Given the description of an element on the screen output the (x, y) to click on. 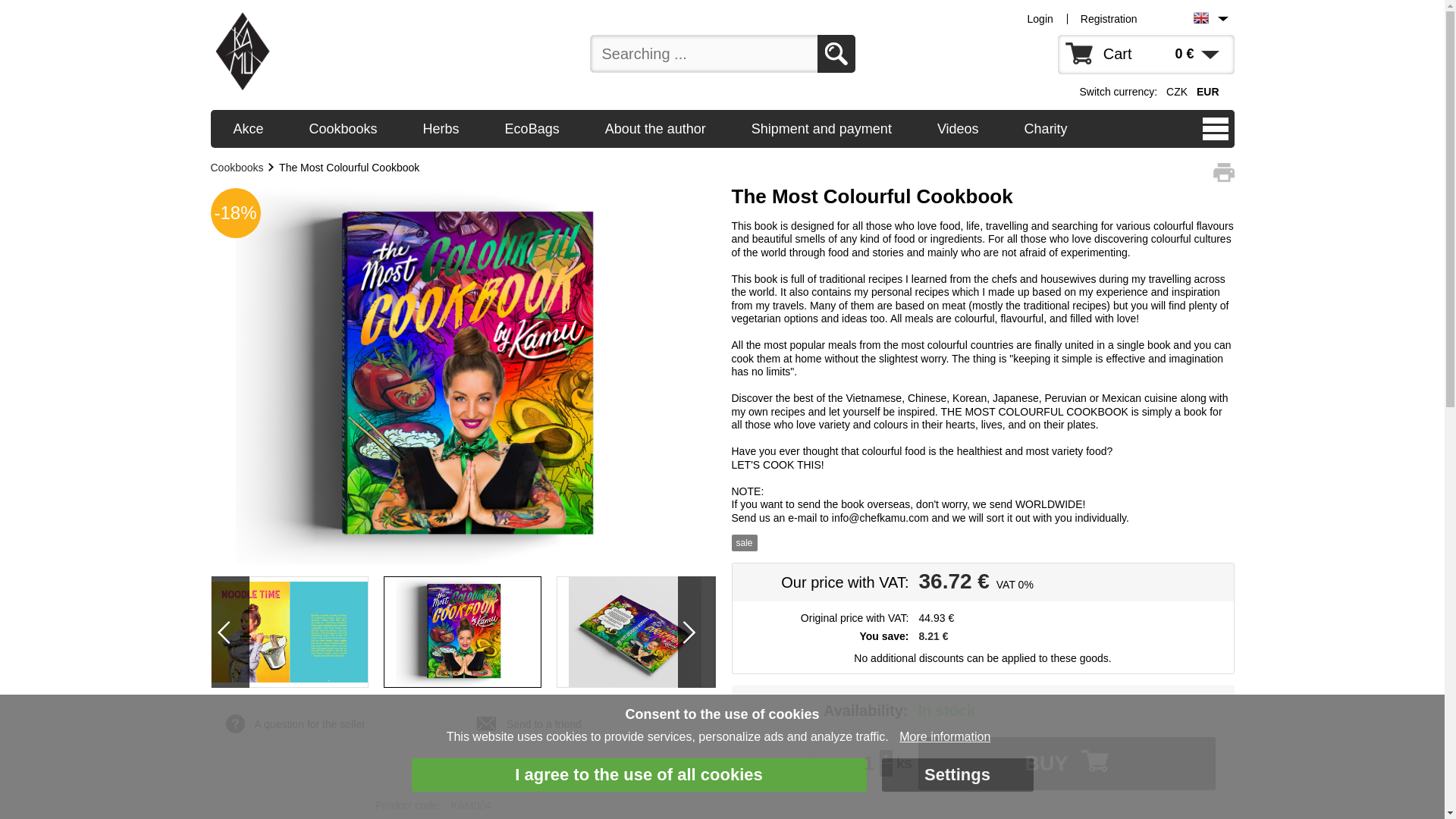
About the author (655, 127)
Add product to the cart (1065, 763)
CZK (1174, 91)
Search (836, 53)
Videos (957, 127)
1 (844, 763)
EcoBags (531, 127)
Login (1040, 18)
Herbs (440, 127)
Registration (1109, 18)
